Given the description of an element on the screen output the (x, y) to click on. 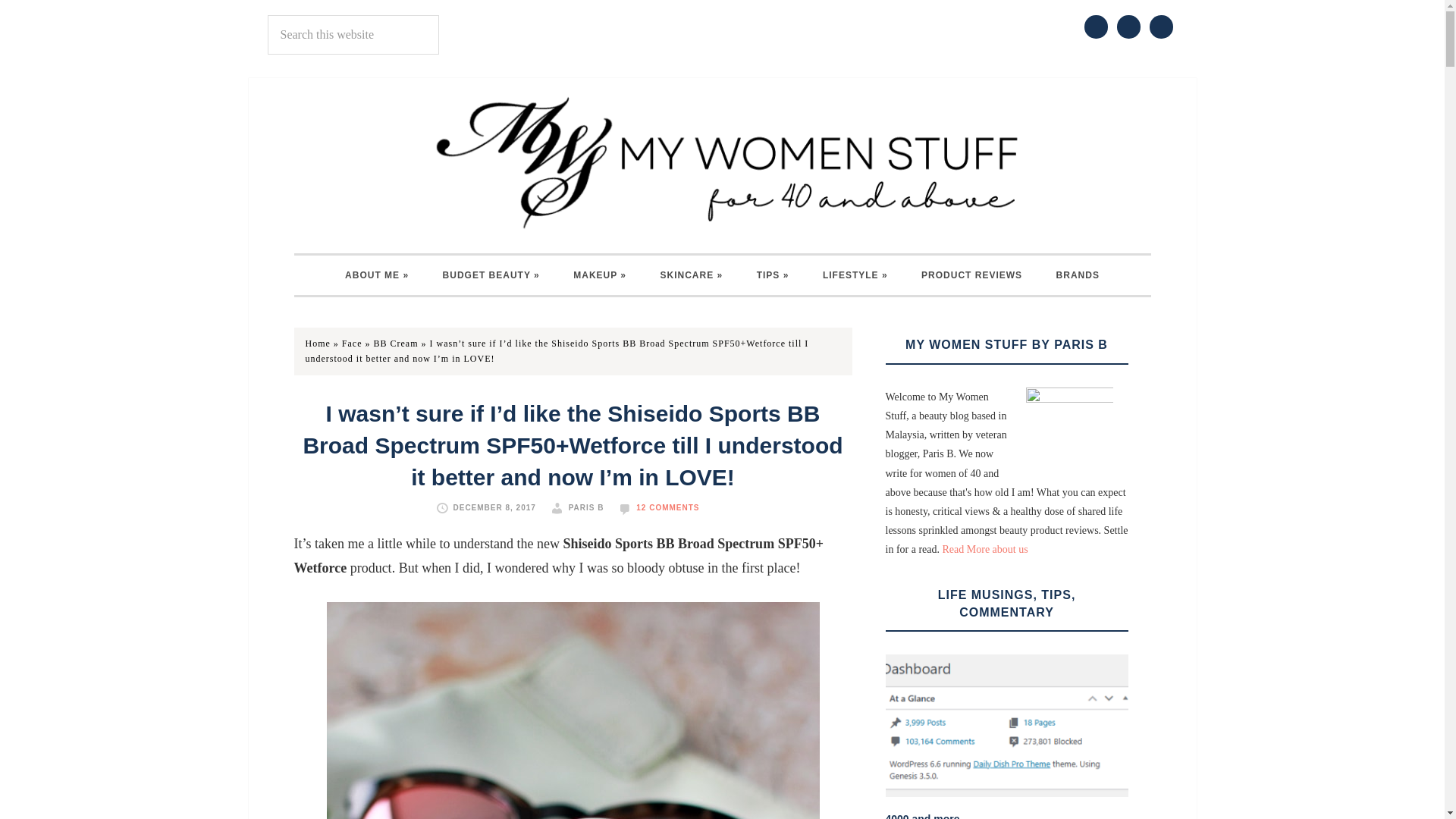
Click for all Skincare Reiews (691, 274)
About Me (376, 274)
Tips and Tricks (773, 274)
My Women Stuff (722, 161)
Beauty on a Budget (491, 274)
